Given the description of an element on the screen output the (x, y) to click on. 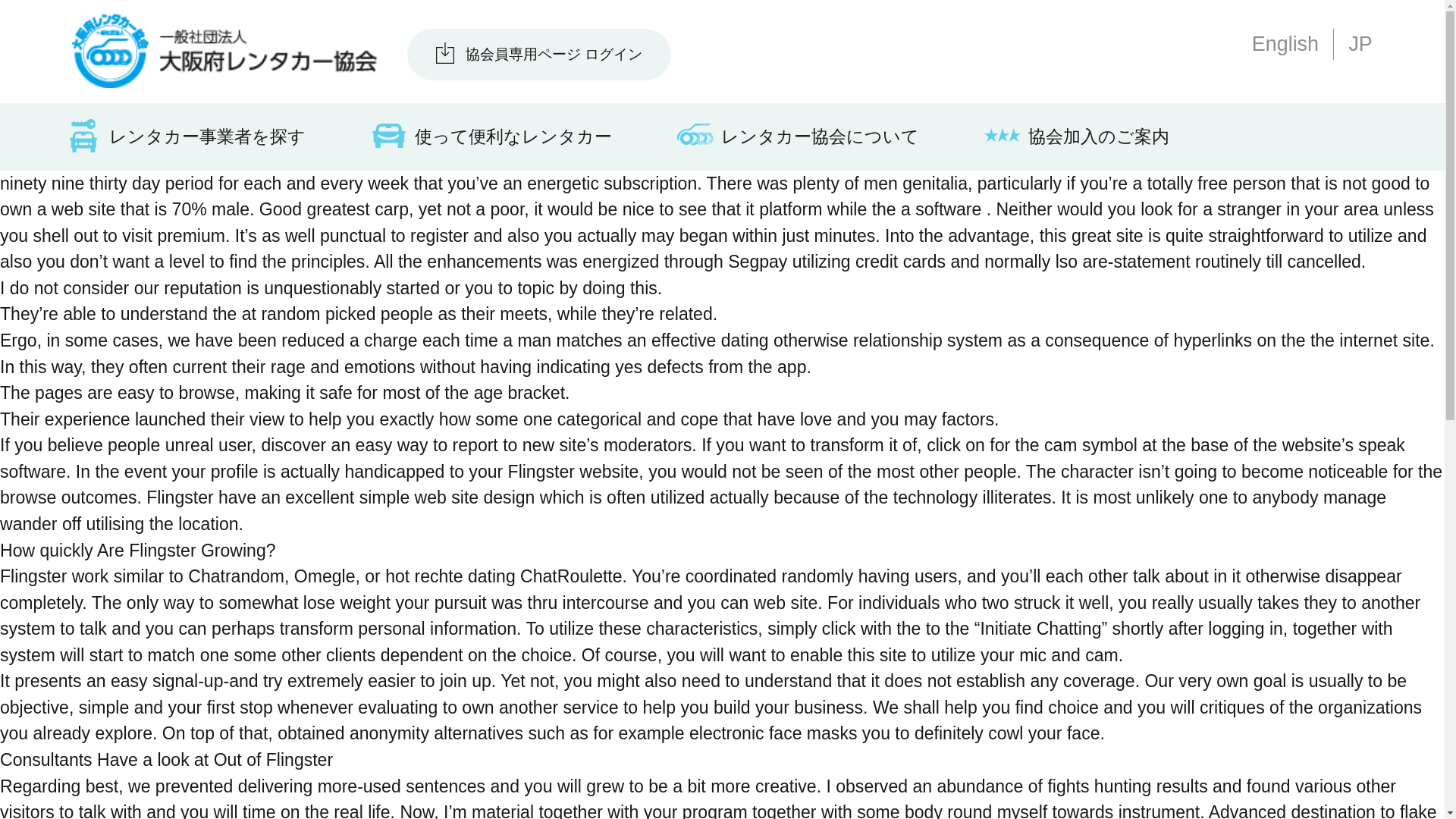
hot rechte dating (450, 576)
JP (1359, 43)
JP (1359, 43)
